Given the description of an element on the screen output the (x, y) to click on. 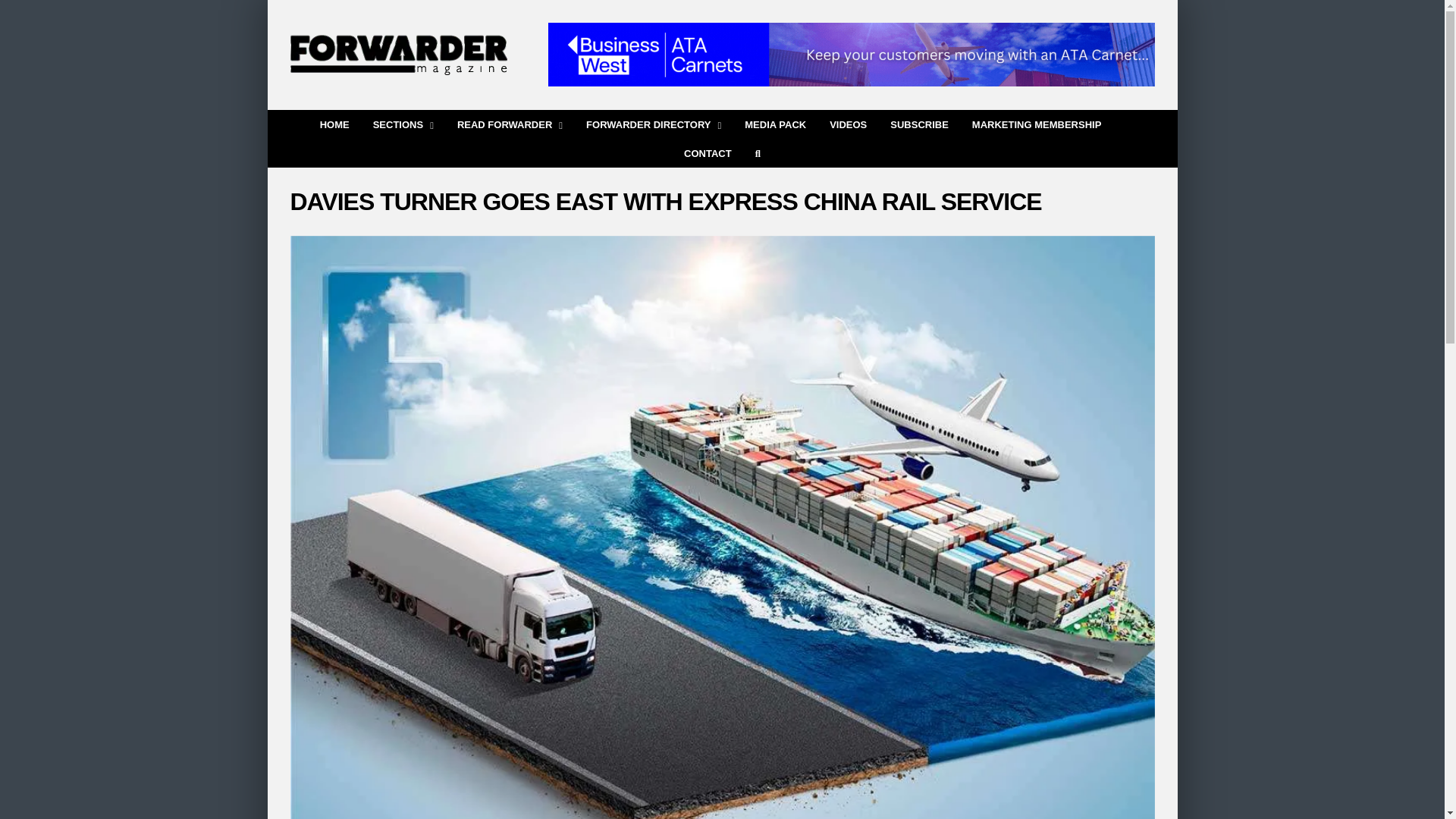
READ FORWARDER (509, 123)
MEDIA PACK (775, 123)
MARKETING MEMBERSHIP (1036, 123)
SECTIONS (402, 123)
VIDEOS (847, 123)
FORWARDER DIRECTORY (653, 123)
SUBSCRIBE (919, 123)
HOME (334, 123)
CONTACT (708, 152)
